Given the description of an element on the screen output the (x, y) to click on. 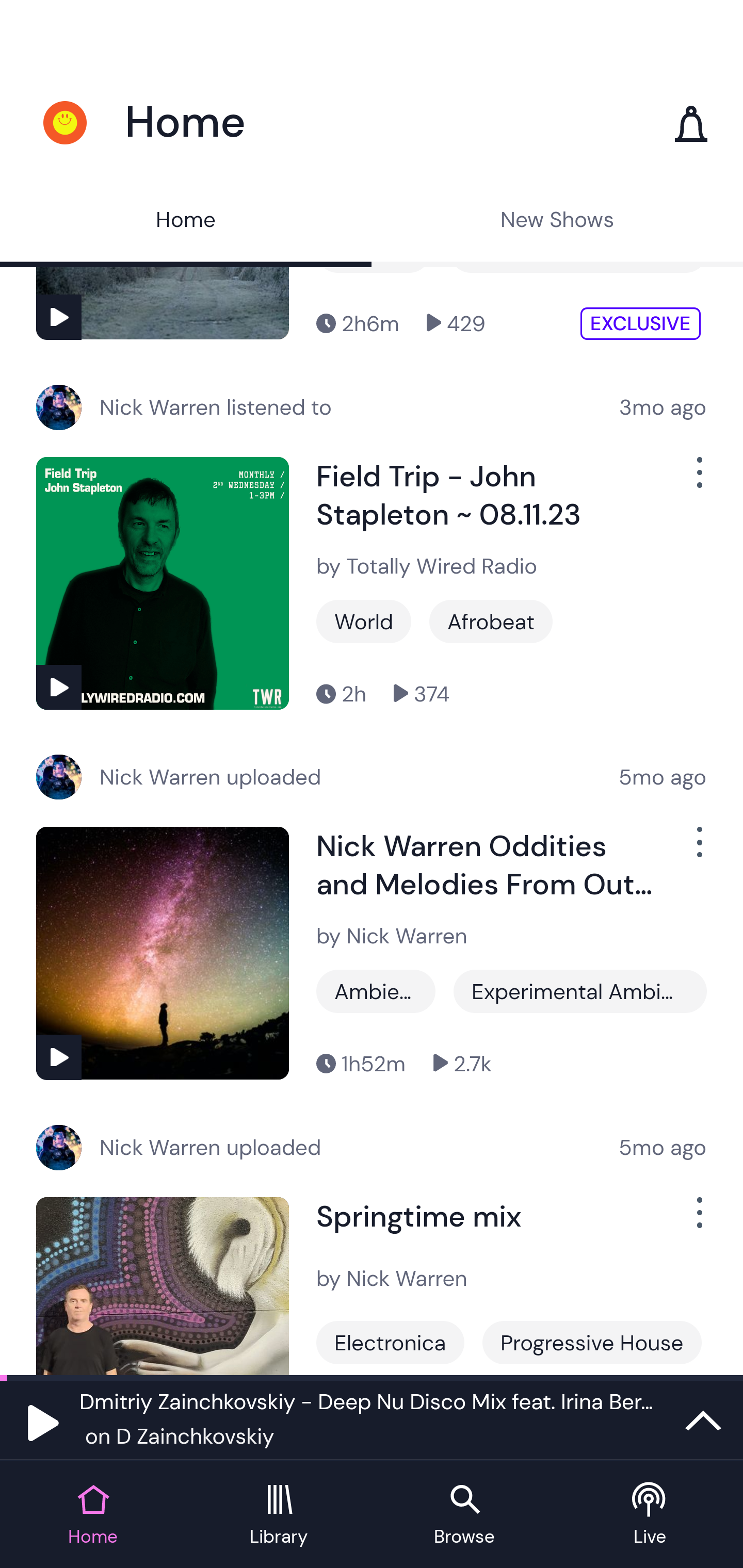
Home (185, 221)
New Shows (557, 221)
Show Options Menu Button (697, 479)
World (363, 621)
Afrobeat (490, 621)
Show Options Menu Button (697, 849)
Ambient (375, 990)
Experimental Ambient (579, 990)
Show Options Menu Button (697, 1219)
Electronica (390, 1342)
Progressive House (591, 1342)
Home tab Home (92, 1515)
Library tab Library (278, 1515)
Browse tab Browse (464, 1515)
Live tab Live (650, 1515)
